Given the description of an element on the screen output the (x, y) to click on. 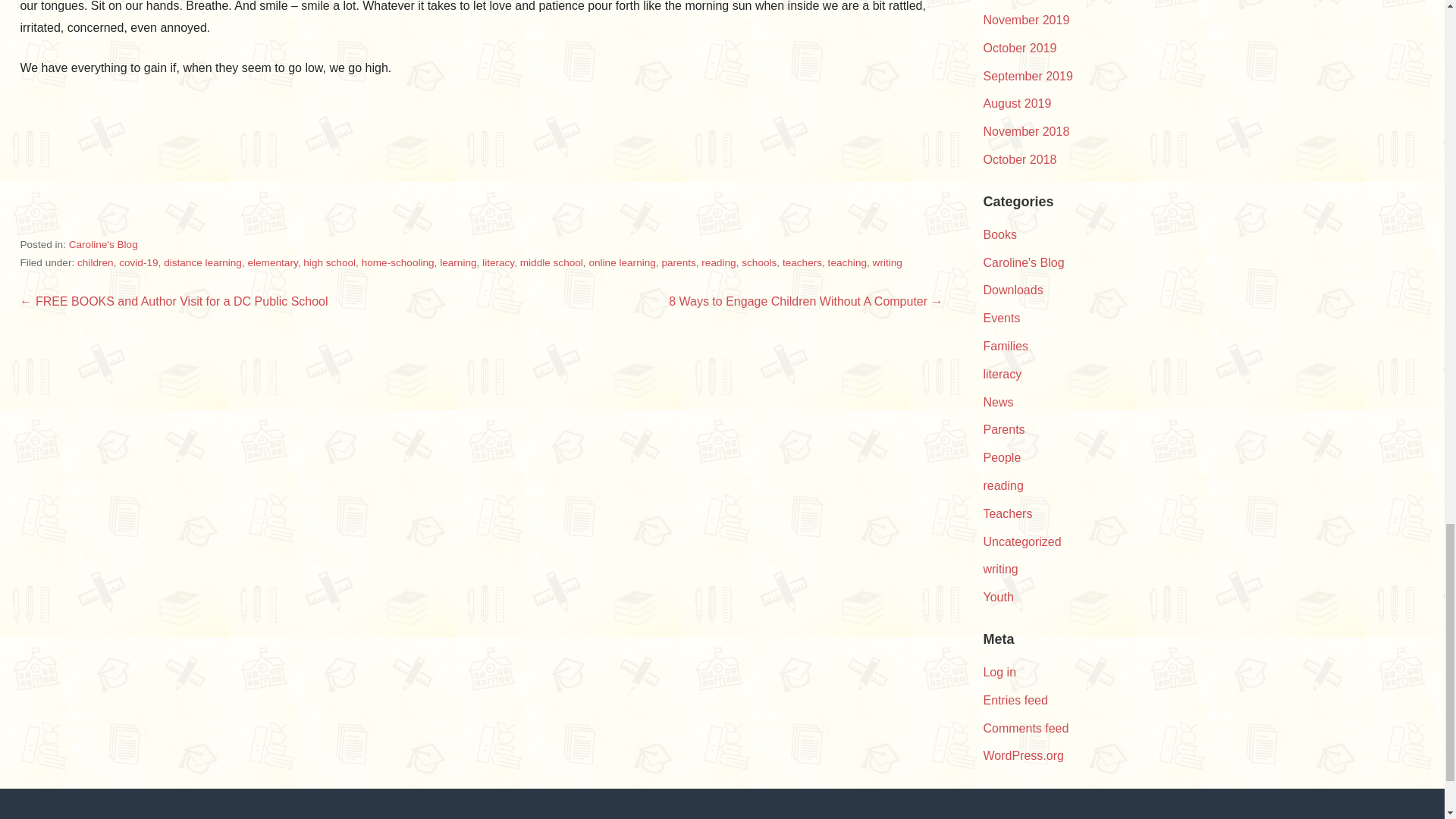
distance learning (202, 262)
children (95, 262)
teachers (802, 262)
middle school (551, 262)
teaching (847, 262)
writing (887, 262)
covid-19 (138, 262)
high school (328, 262)
online learning (621, 262)
learning (457, 262)
home-schooling (397, 262)
Caroline's Blog (103, 244)
reading (718, 262)
schools (758, 262)
literacy (497, 262)
